Given the description of an element on the screen output the (x, y) to click on. 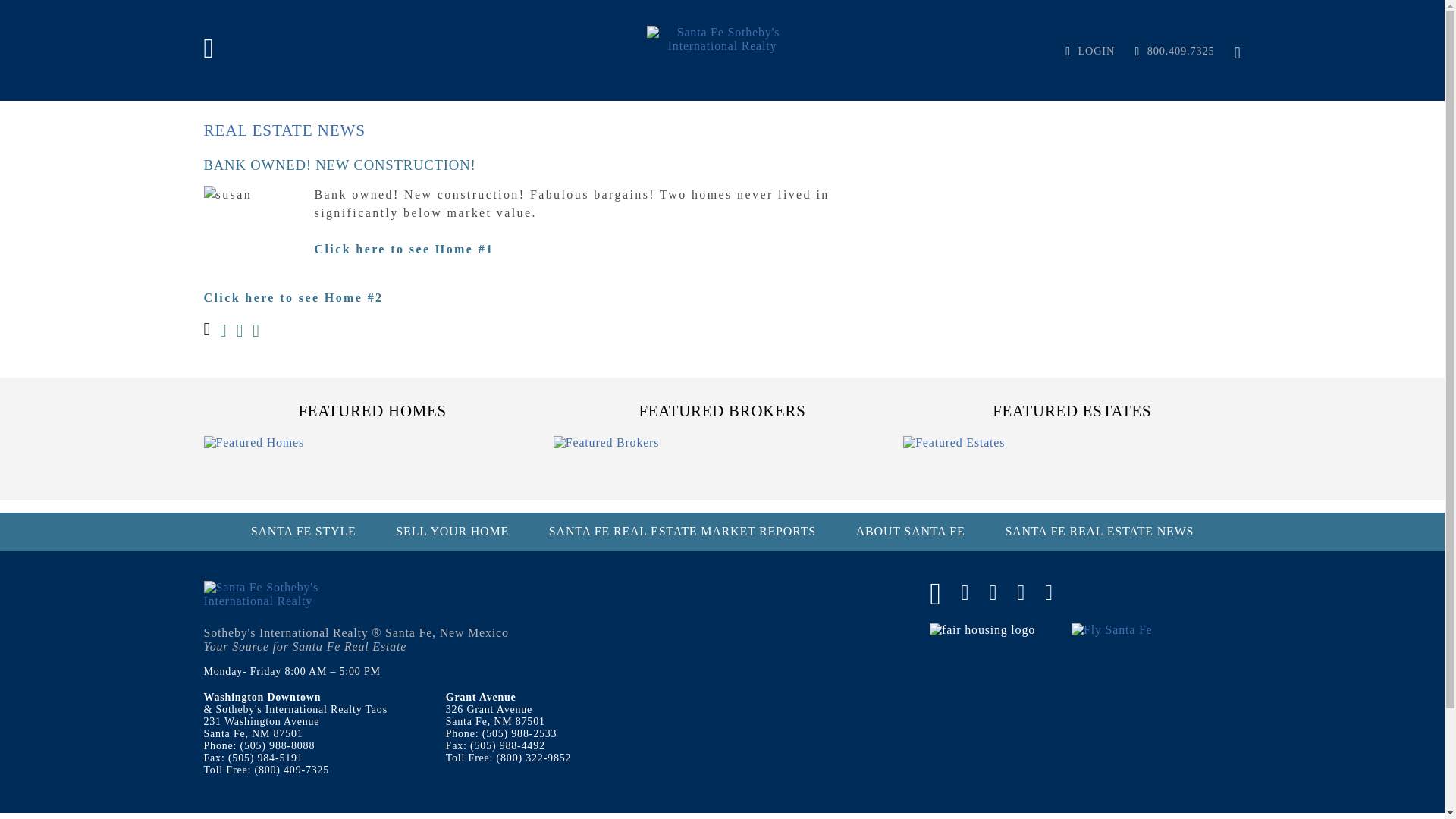
susan (252, 217)
800.409.7325 (1166, 50)
FEATURED HOMES (372, 410)
REAL ESTATE NEWS (284, 130)
LOGIN (1082, 50)
